Given the description of an element on the screen output the (x, y) to click on. 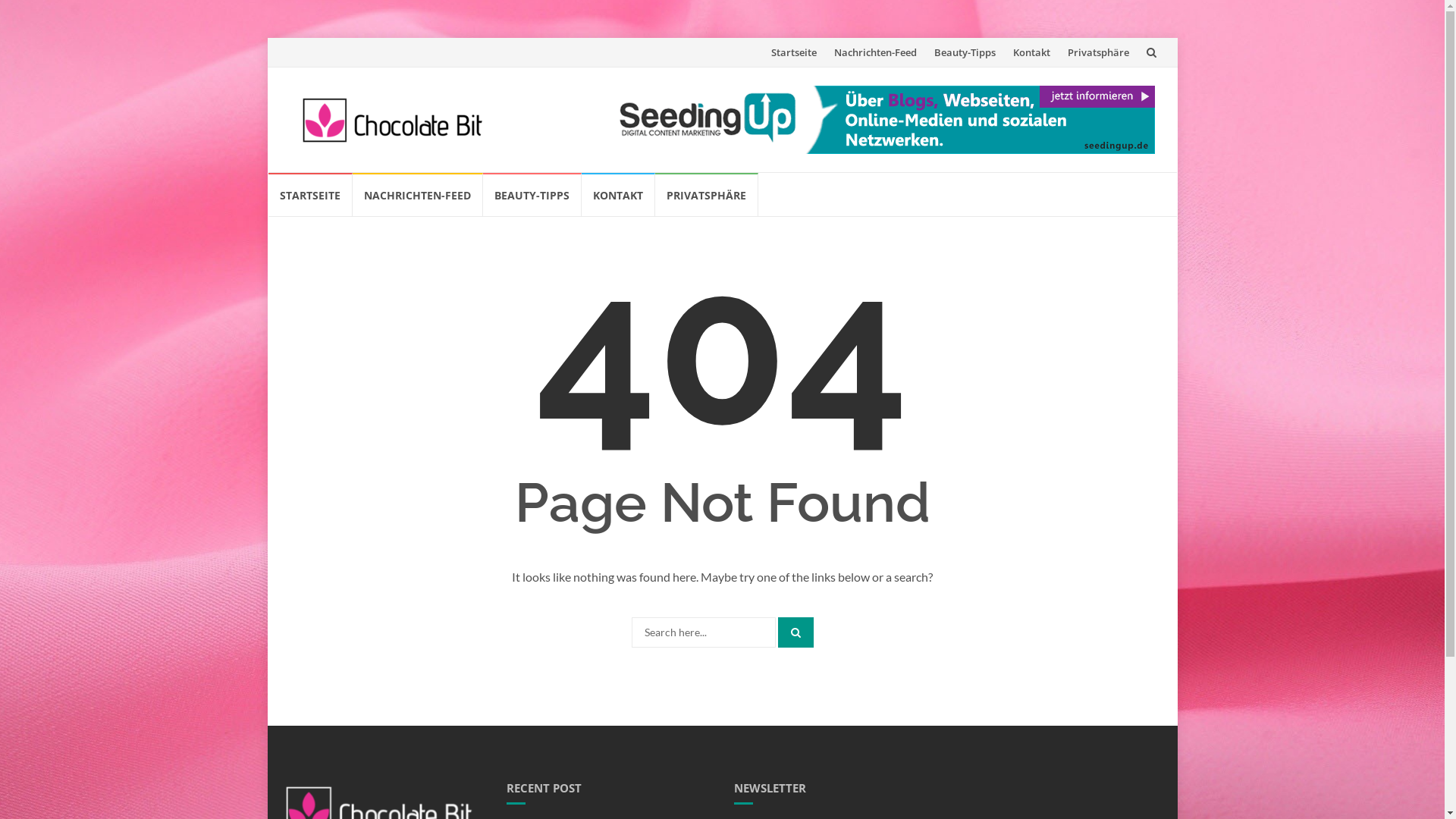
Skip to content Element type: text (266, 172)
Nachrichten-Feed Element type: text (875, 52)
BEAUTY-TIPPS Element type: text (531, 194)
KONTAKT Element type: text (617, 194)
Skip to content Element type: text (762, 37)
NACHRICHTEN-FEED Element type: text (416, 194)
Kontakt Element type: text (1031, 52)
Startseite Element type: text (792, 52)
Search Element type: hover (795, 632)
Beauty-Tipps Element type: text (964, 52)
Search for: Element type: hover (702, 632)
STARTSEITE Element type: text (310, 194)
